Given the description of an element on the screen output the (x, y) to click on. 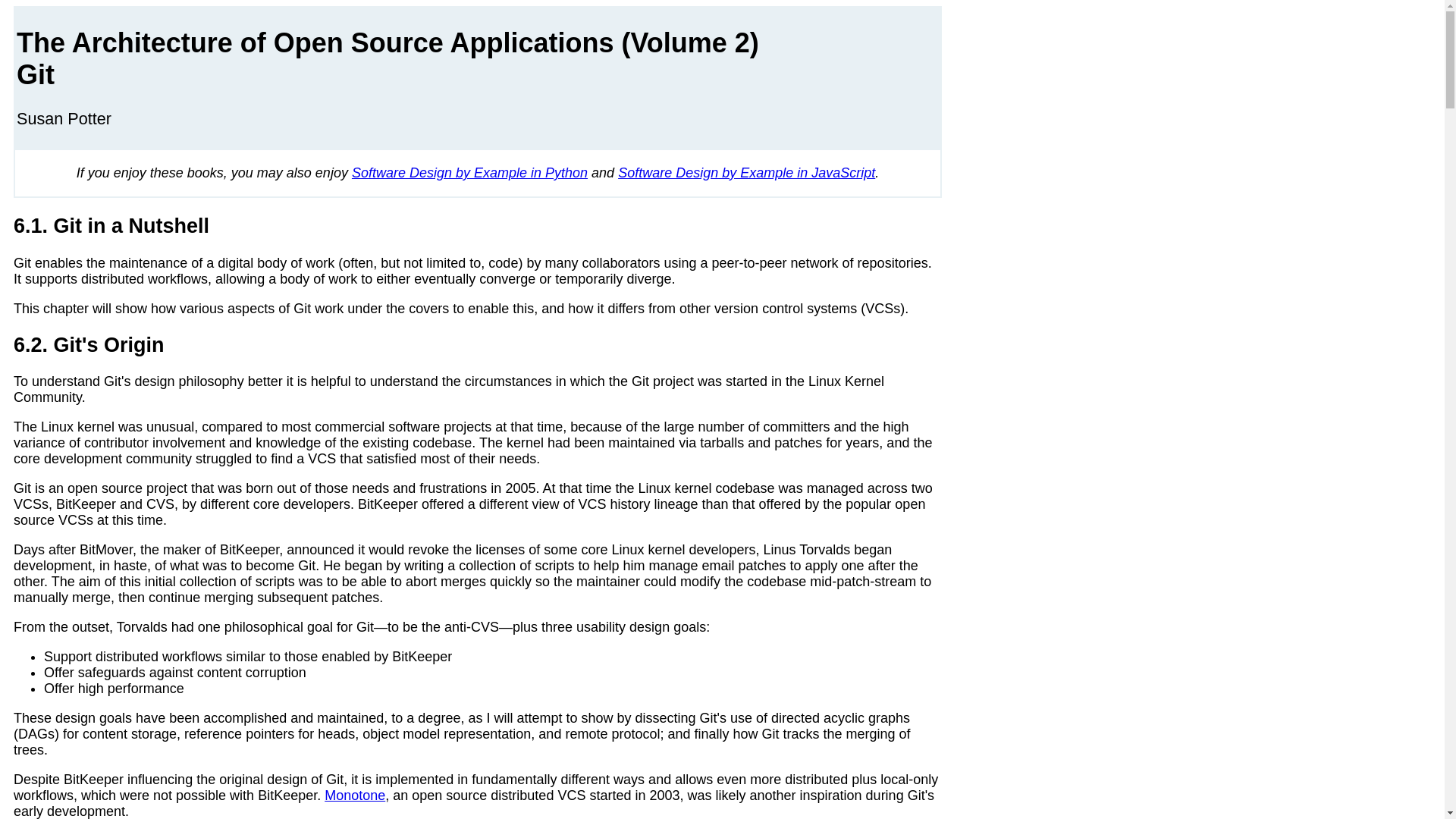
Monotone (354, 795)
Software Design by Example in JavaScript (746, 172)
Software Design by Example in Python (470, 172)
